Given the description of an element on the screen output the (x, y) to click on. 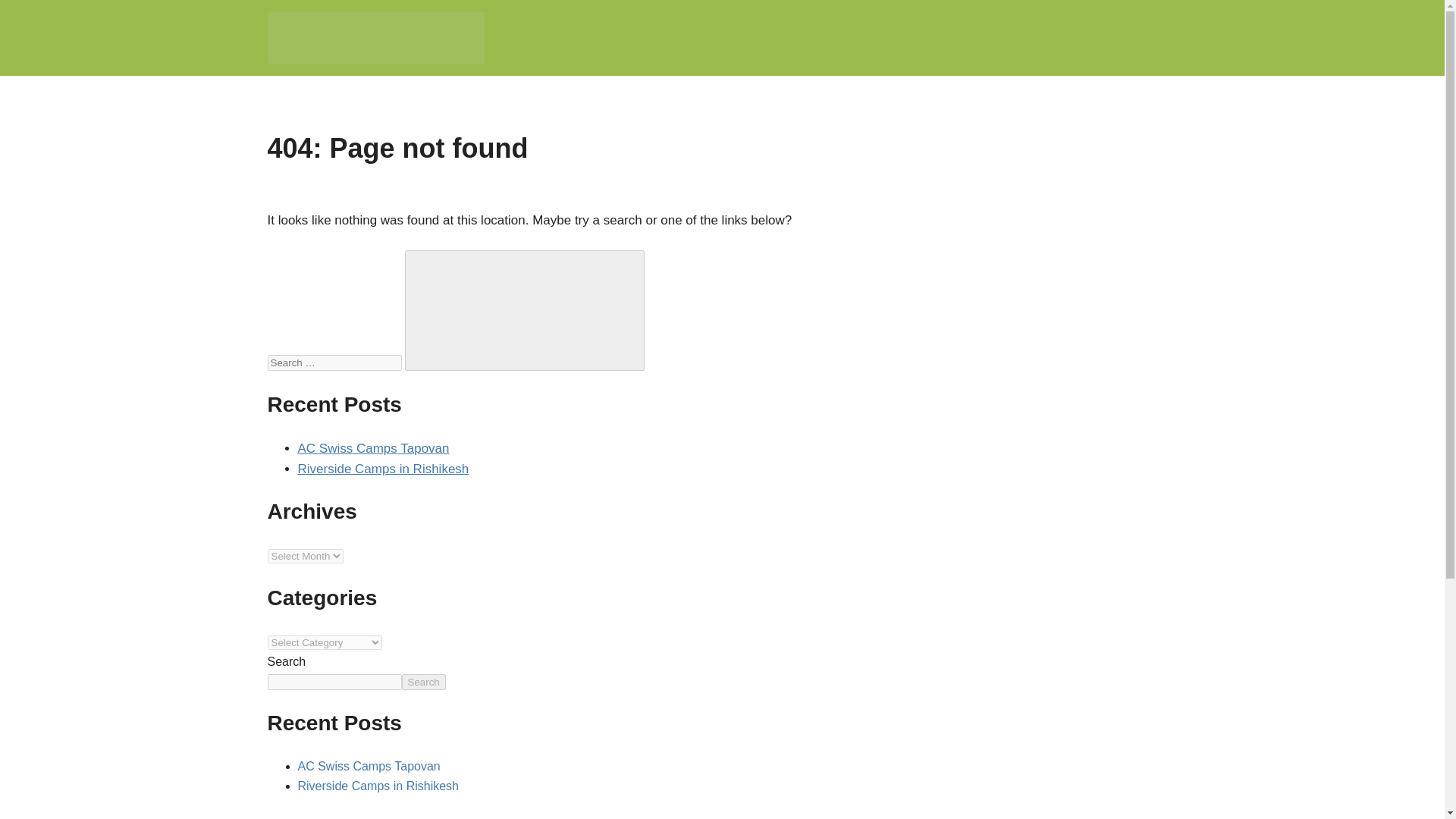
AC Swiss Camps Tapovan (368, 766)
AC Swiss Camps Tapovan (372, 448)
Search (423, 682)
Search (524, 310)
Riverside Camps in Rishikesh (382, 468)
Search for: (333, 362)
Riverside Camps in Rishikesh (377, 785)
